Given the description of an element on the screen output the (x, y) to click on. 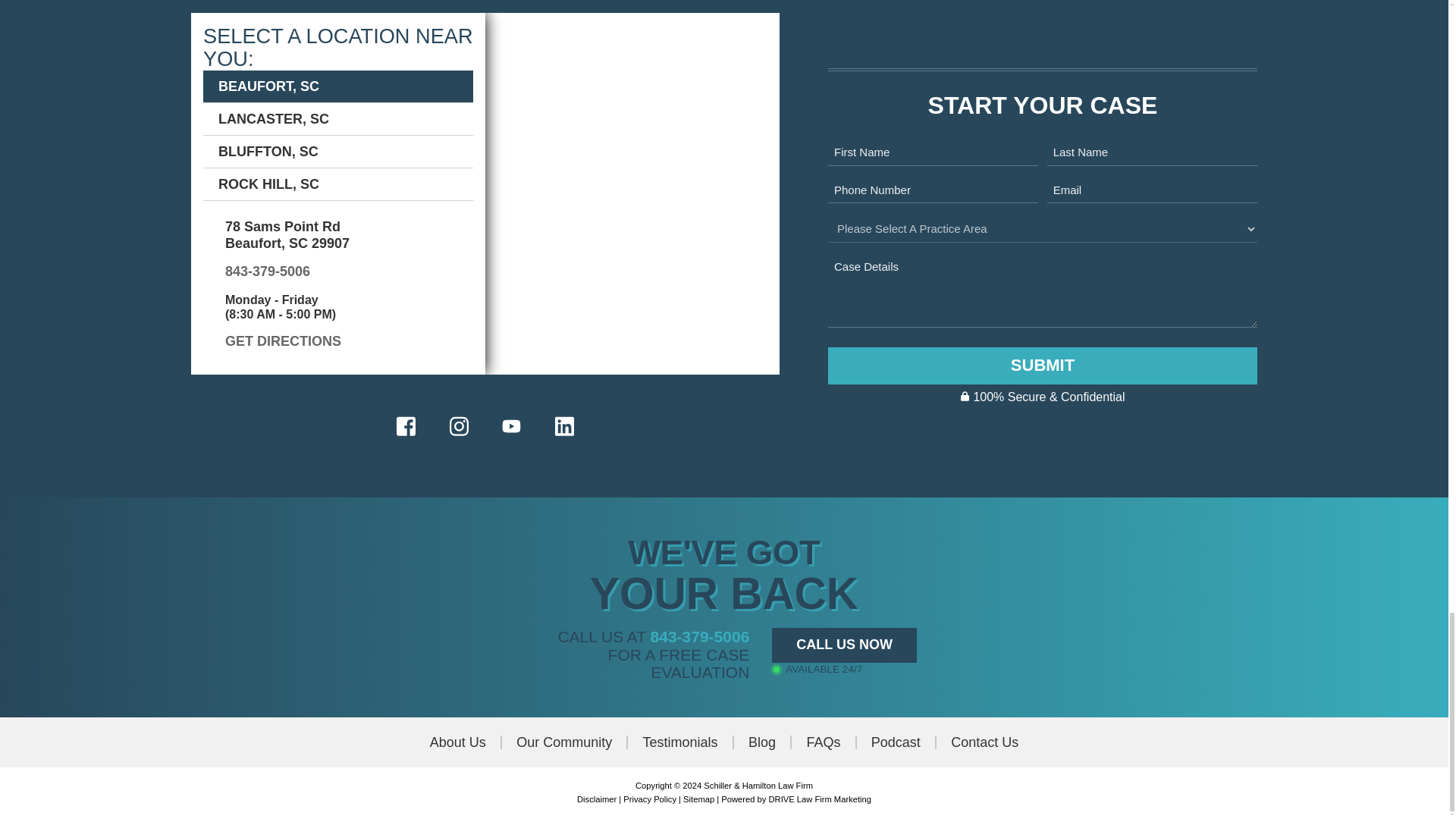
LinkedIn (564, 426)
Facebook (406, 426)
Youtube (510, 426)
Instagram (458, 426)
